Given the description of an element on the screen output the (x, y) to click on. 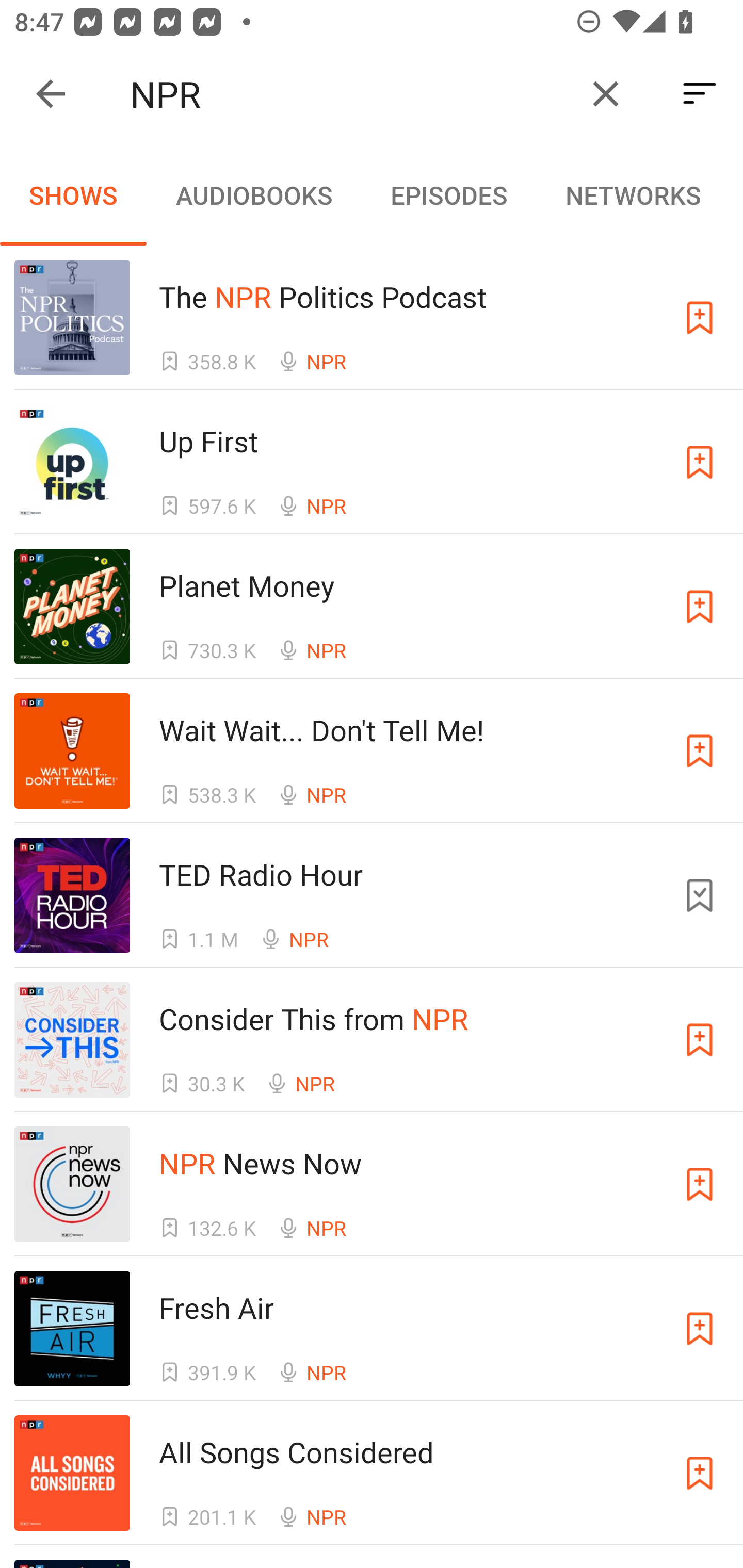
Collapse (50, 93)
Clear query (605, 93)
Sort By (699, 93)
NPR (349, 94)
SHOWS (73, 195)
AUDIOBOOKS (253, 195)
EPISODES (448, 195)
NETWORKS (632, 195)
Subscribe (699, 317)
Up First Up First  597.6 K  NPR Subscribe (371, 462)
Subscribe (699, 462)
Subscribe (699, 606)
Subscribe (699, 751)
Unsubscribe (699, 895)
Subscribe (699, 1039)
Subscribe (699, 1183)
Fresh Air Fresh Air  391.9 K  NPR Subscribe (371, 1327)
Subscribe (699, 1328)
Subscribe (699, 1472)
